Given the description of an element on the screen output the (x, y) to click on. 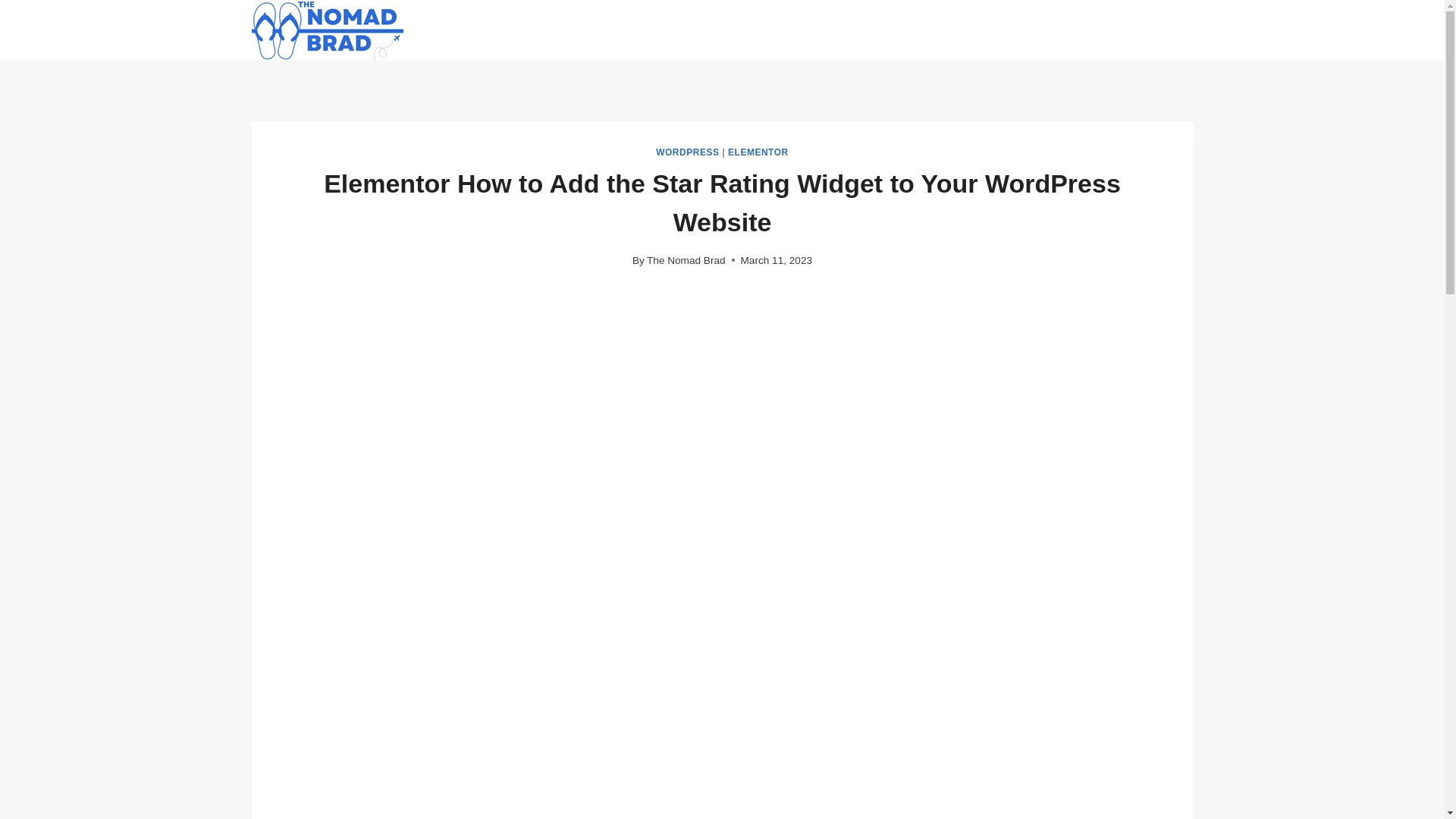
WORDPRESS (687, 152)
ELEMENTOR (758, 152)
The Nomad Brad (685, 260)
